Given the description of an element on the screen output the (x, y) to click on. 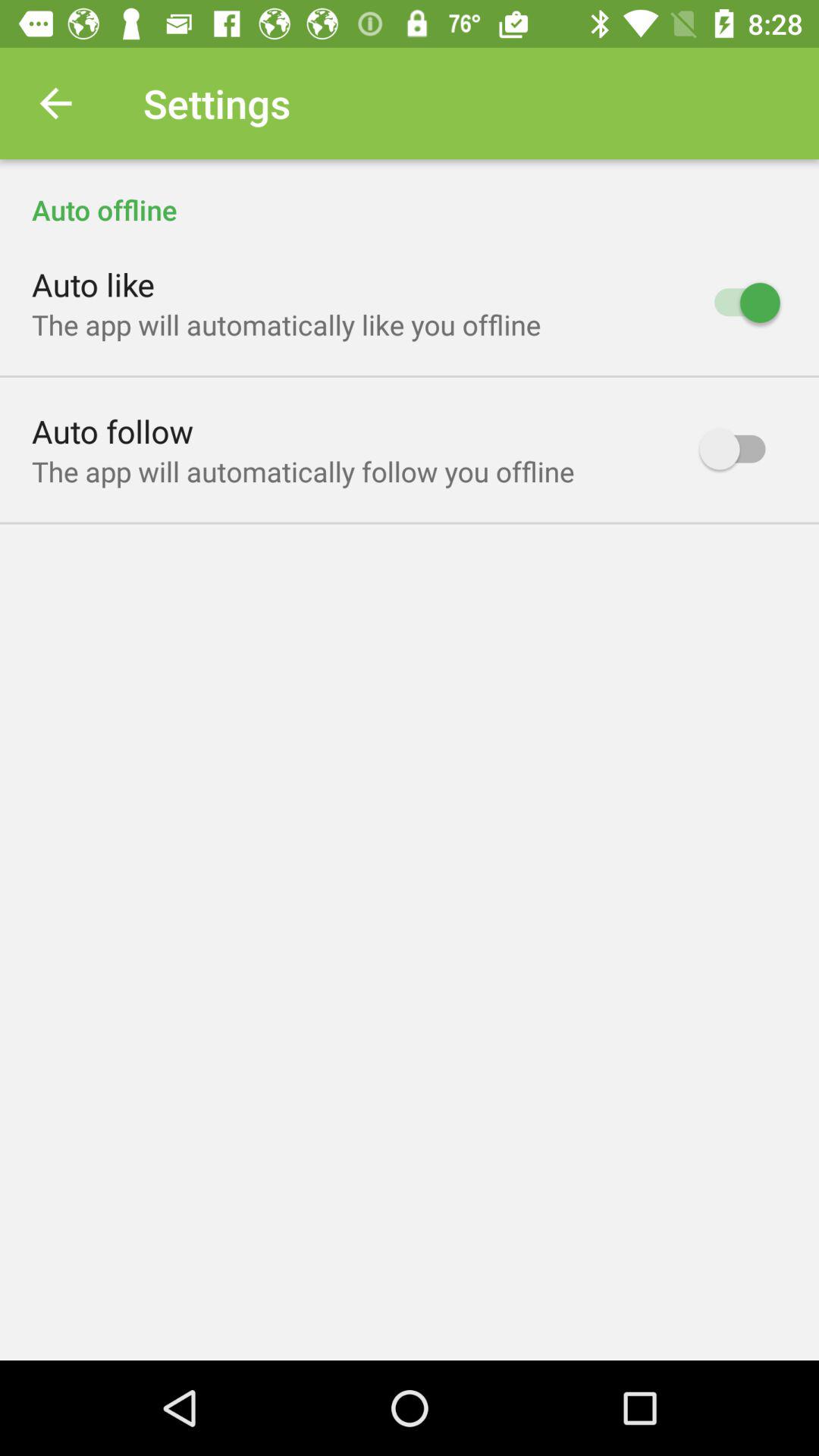
select auto like icon (92, 283)
